Given the description of an element on the screen output the (x, y) to click on. 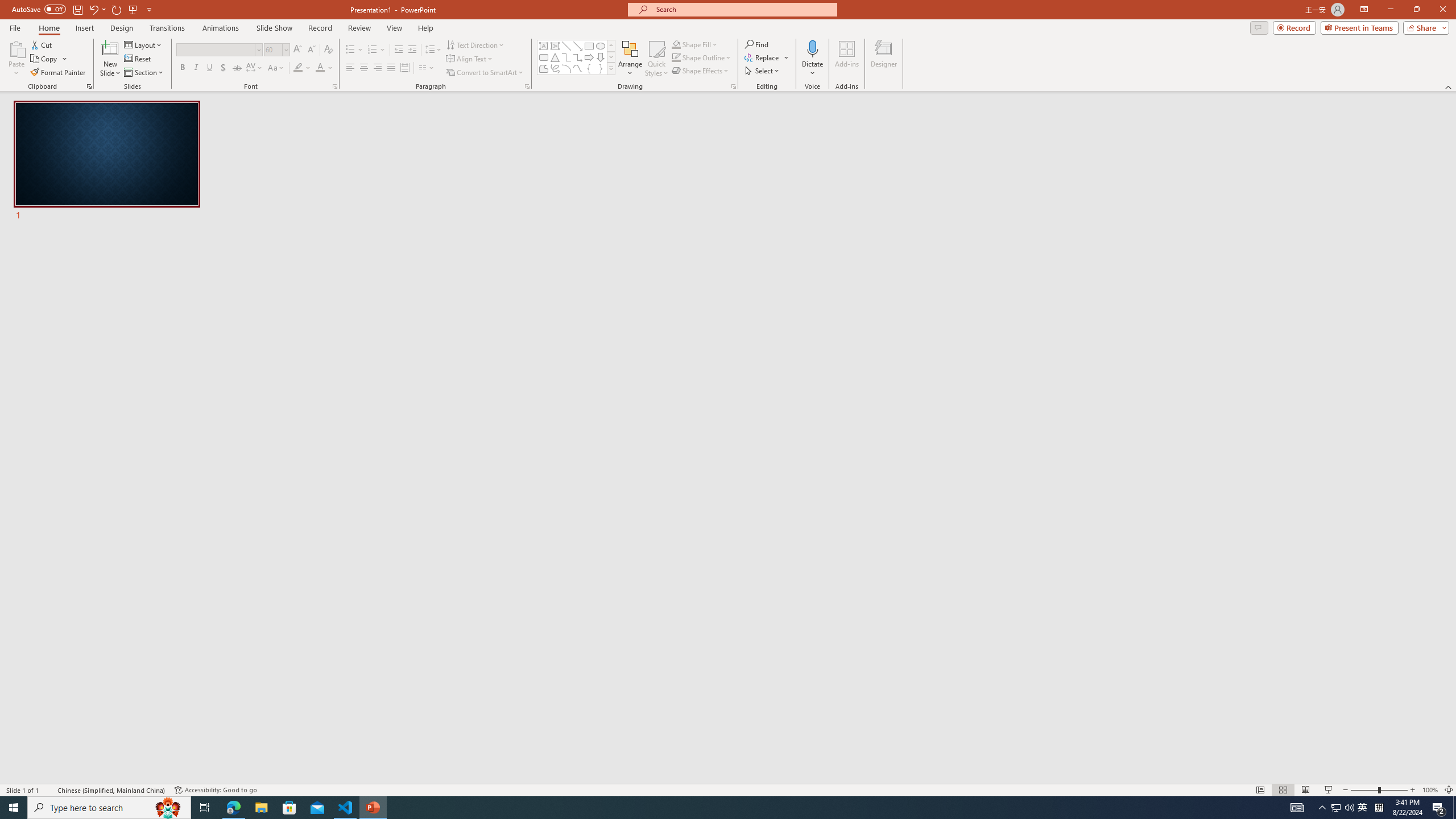
Freeform: Scribble (554, 68)
Rectangle: Rounded Corners (543, 57)
Justify (390, 67)
Cut (42, 44)
Format Painter (58, 72)
Format Object... (733, 85)
